Given the description of an element on the screen output the (x, y) to click on. 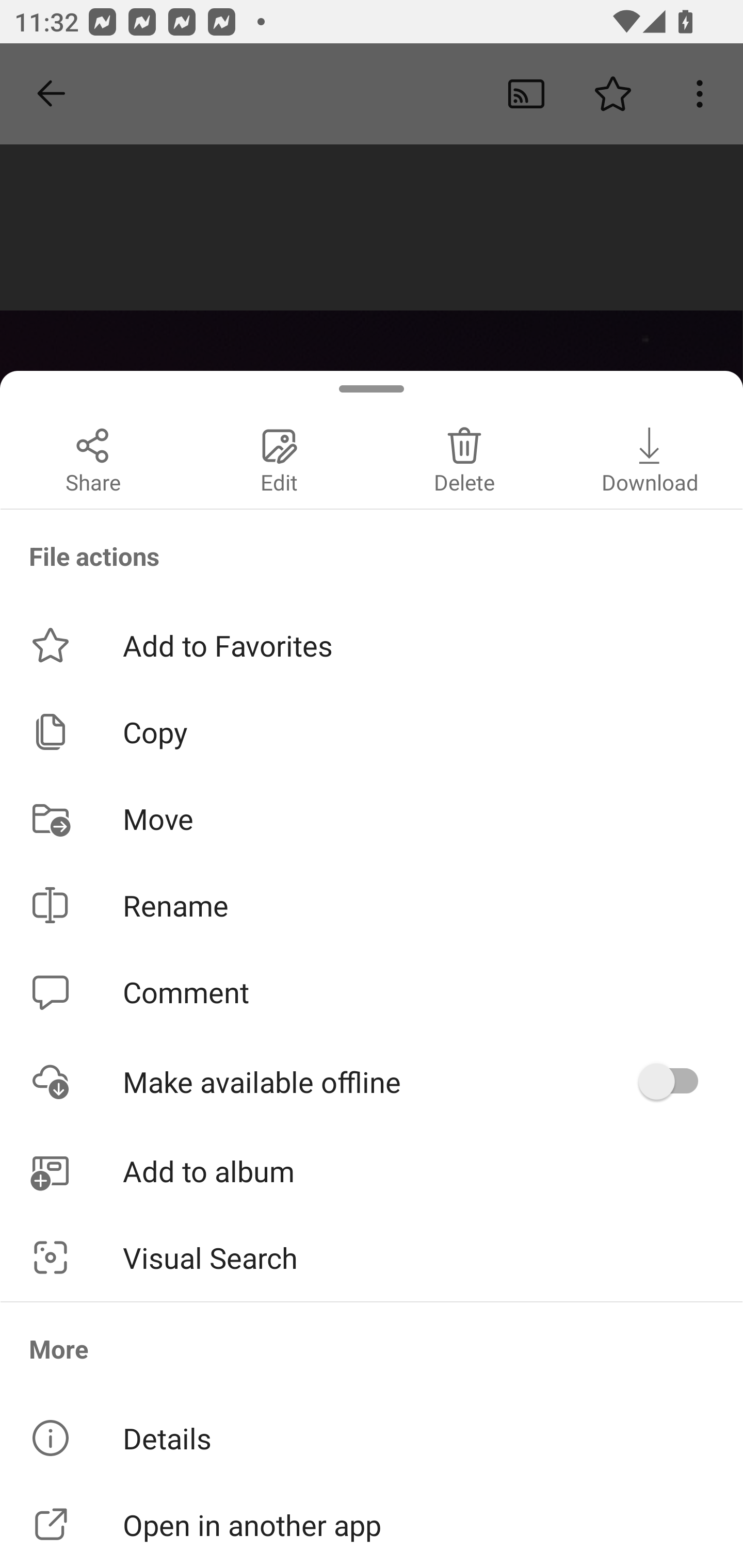
Share (92, 457)
Edit (278, 457)
Delete (464, 457)
Download (650, 457)
Add to Favorites button Add to Favorites (371, 645)
Copy button Copy (371, 731)
Move button Move (371, 818)
Rename button Rename (371, 905)
Comment button Comment (371, 991)
Make offline operation (674, 1080)
Add to album button Add to album (371, 1170)
Visual Search button Visual Search (371, 1257)
Details button Details (371, 1437)
Open in another app button Open in another app (371, 1524)
